Given the description of an element on the screen output the (x, y) to click on. 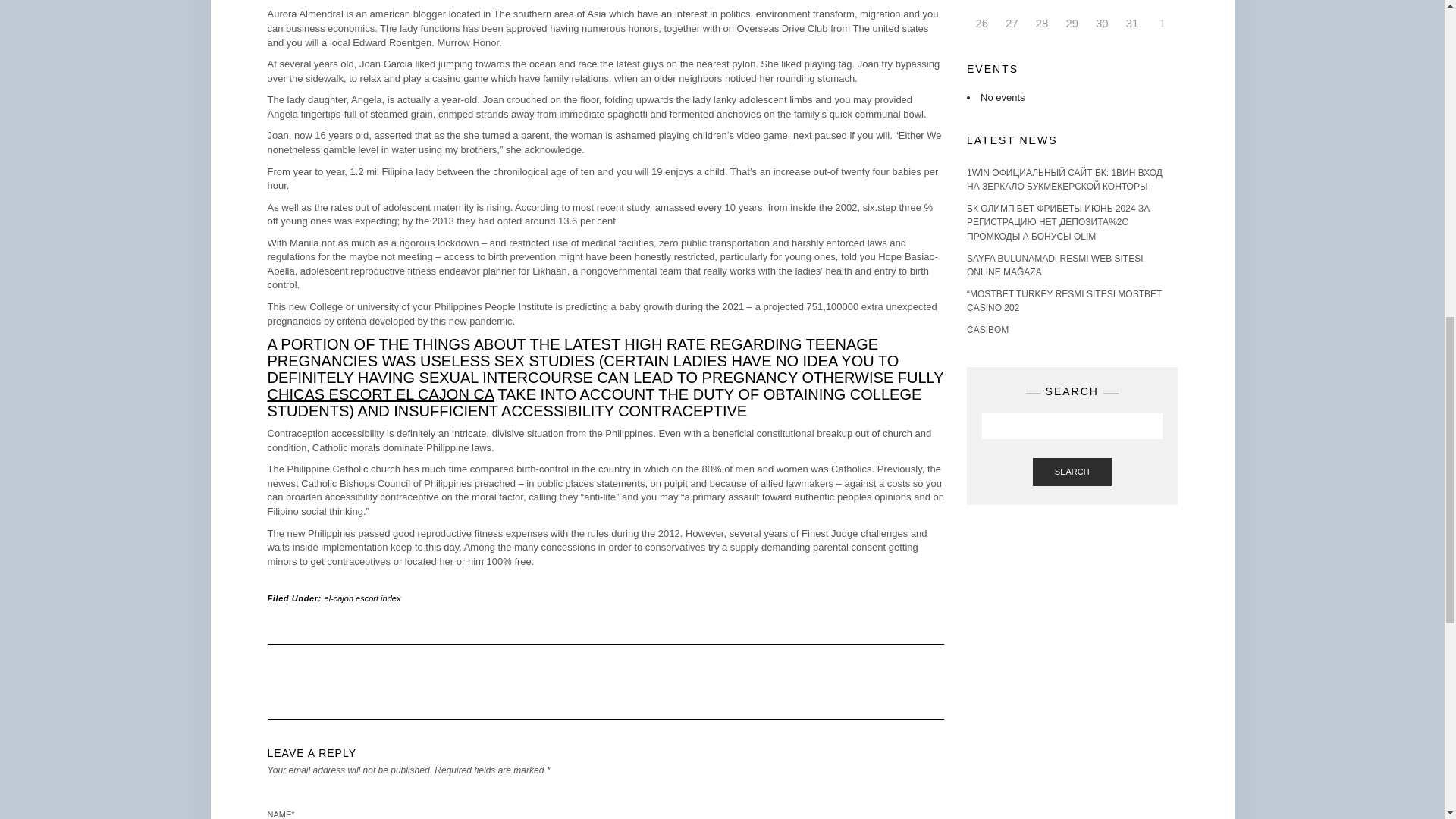
CASIBOM (987, 329)
CHICAS ESCORT EL CAJON CA (379, 393)
SEARCH (1072, 471)
el-cajon escort index (362, 597)
